Given the description of an element on the screen output the (x, y) to click on. 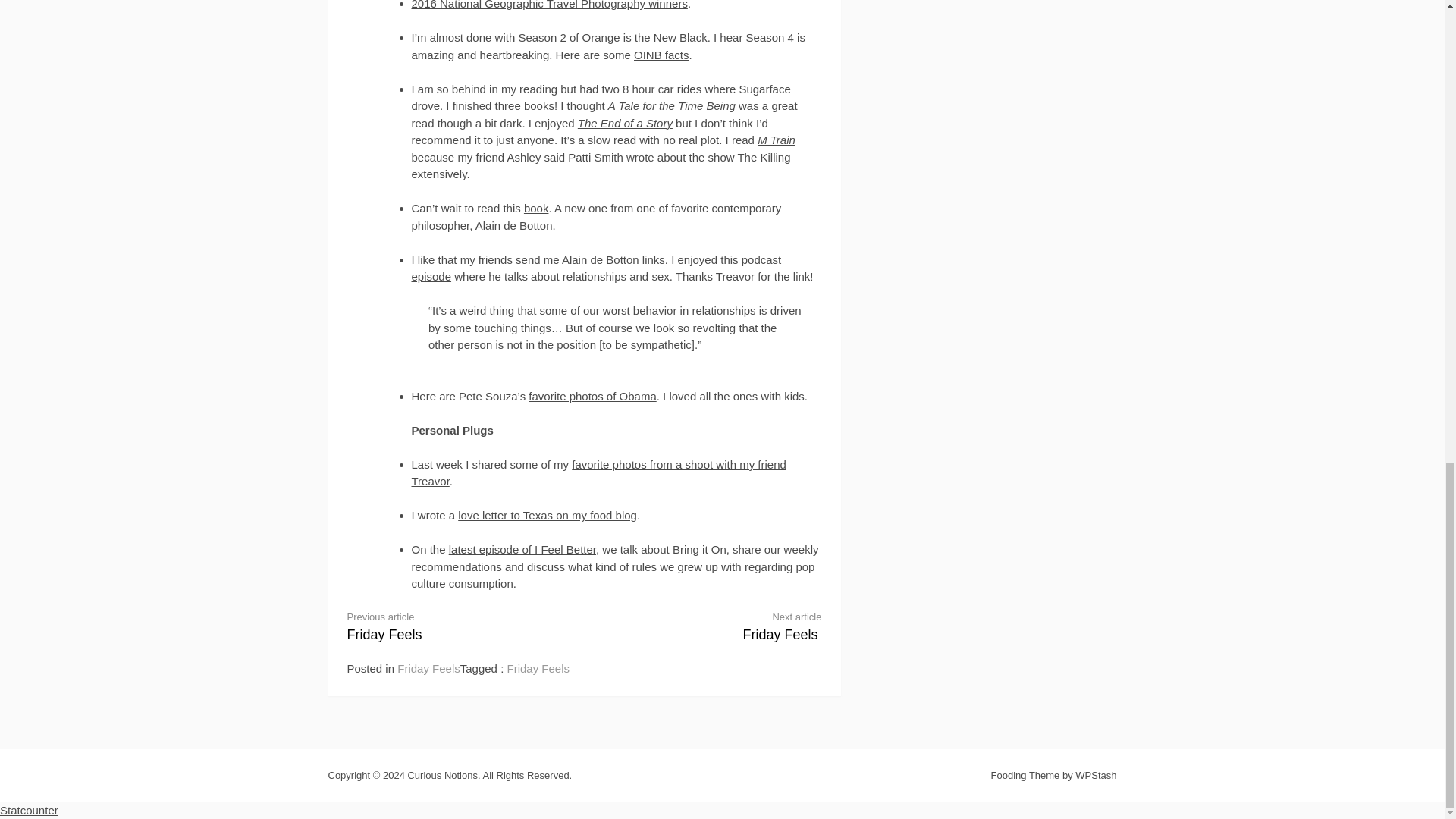
2016 National Geographic Travel Photography winners (548, 4)
The End of a Story (625, 123)
Friday Feels (715, 625)
book (537, 667)
love letter to Texas on my food blog (536, 207)
favorite photos of Obama (547, 514)
Friday Feels (592, 395)
OINB facts (428, 667)
favorite photos from a shoot with my friend Treavor (660, 54)
